Given the description of an element on the screen output the (x, y) to click on. 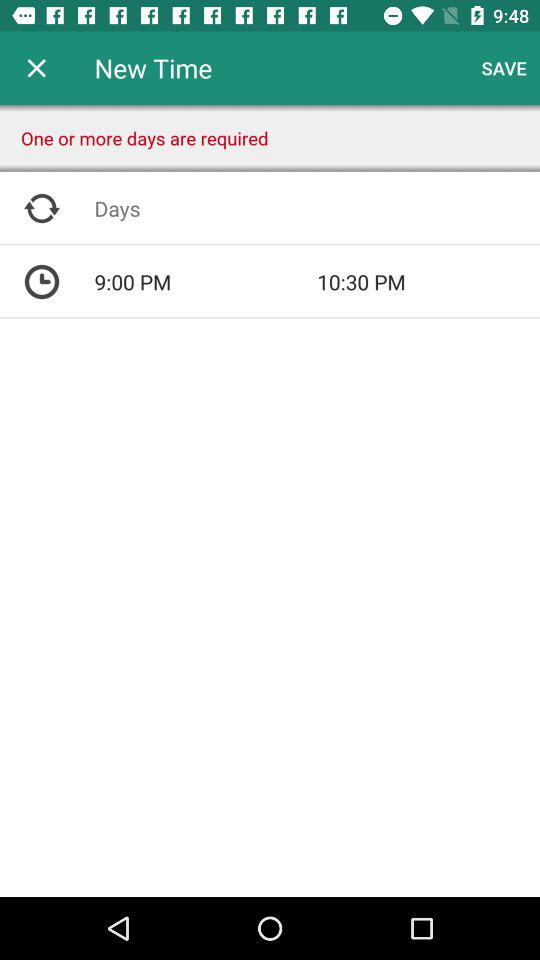
scroll until the save item (504, 68)
